Given the description of an element on the screen output the (x, y) to click on. 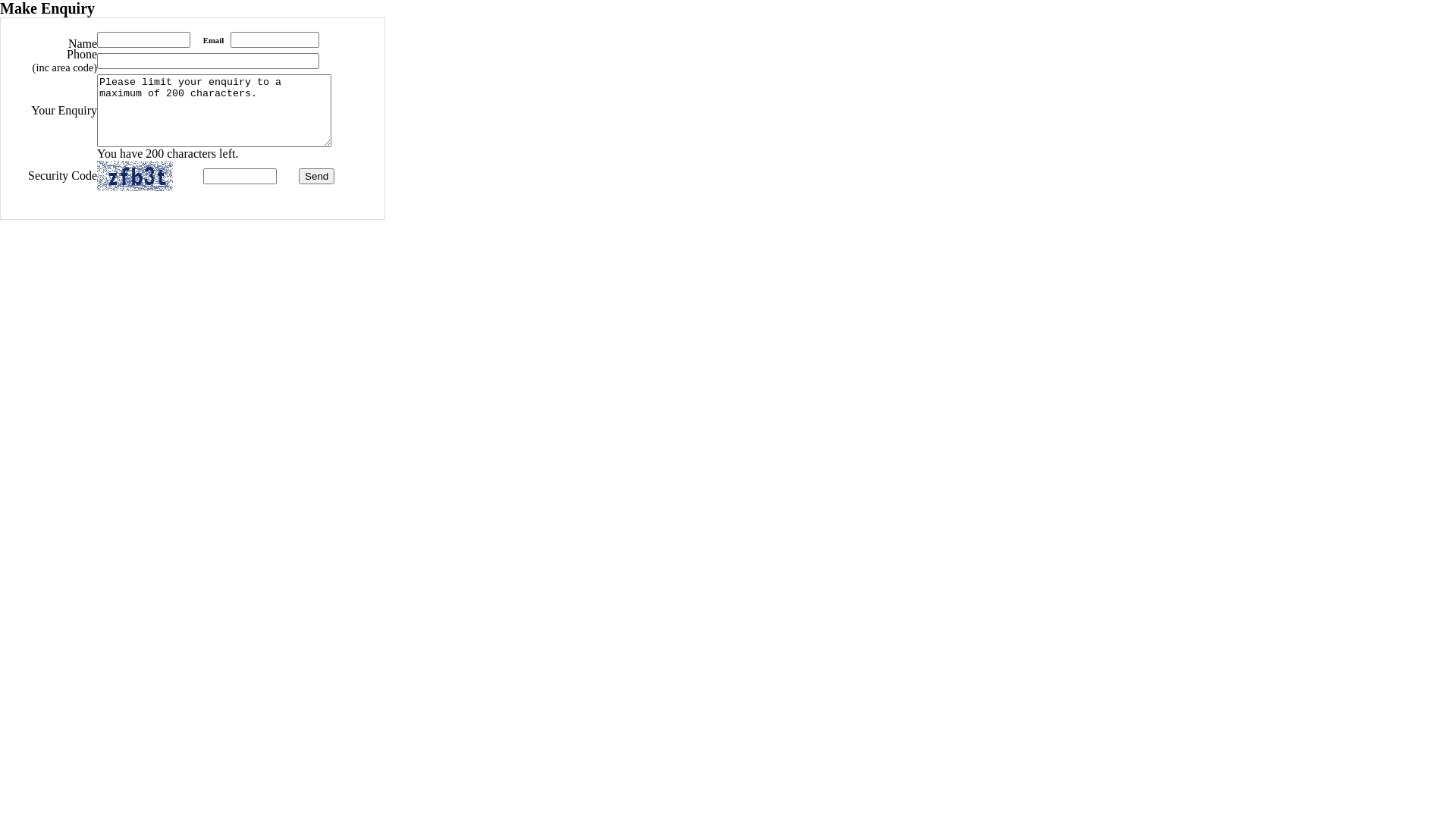
Send Element type: text (316, 176)
